Given the description of an element on the screen output the (x, y) to click on. 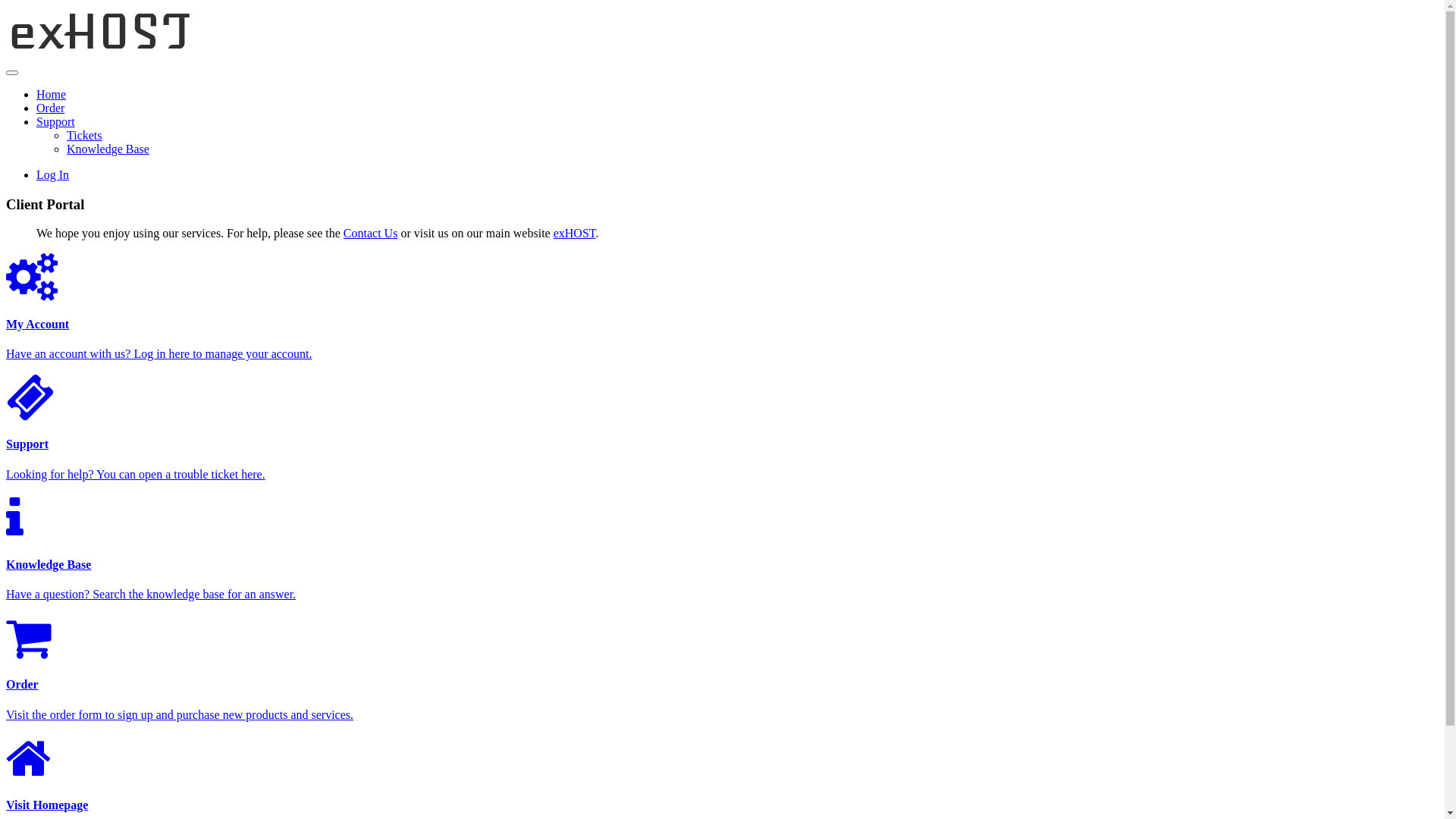
Toggle Navigation Element type: text (12, 72)
Knowledge Base Element type: text (107, 148)
Support Element type: text (55, 121)
exHOST Element type: text (574, 232)
Log In Element type: text (52, 174)
Tickets Element type: text (84, 134)
Order Element type: text (50, 107)
Contact Us Element type: text (370, 232)
Home Element type: text (50, 93)
